Given the description of an element on the screen output the (x, y) to click on. 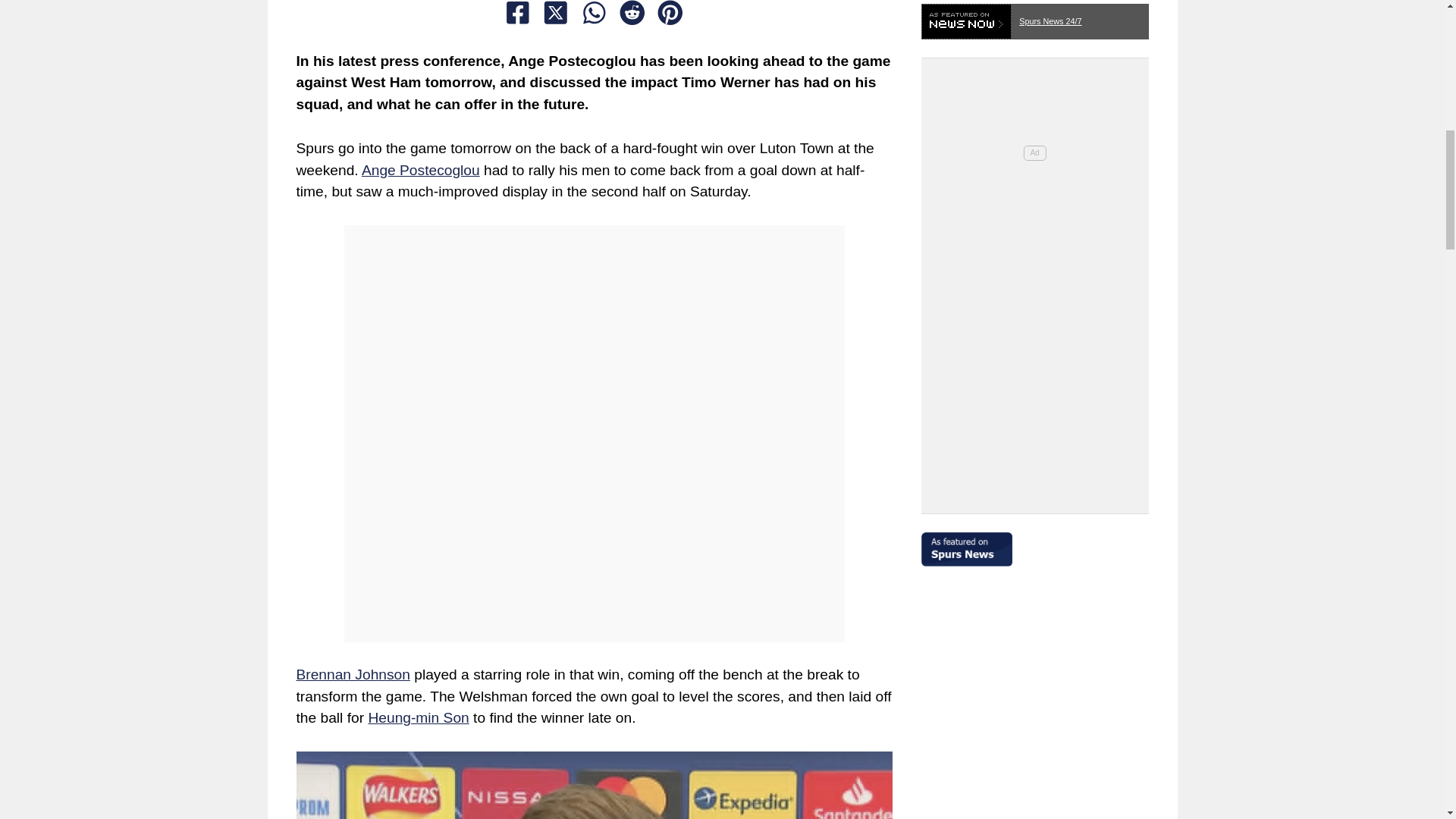
Ange Postecoglou (420, 170)
Click here for more Spurs news from NewsNow (1034, 16)
Brennan Johnson (352, 674)
Heung-min Son (418, 717)
Spurs News (1034, 542)
